Given the description of an element on the screen output the (x, y) to click on. 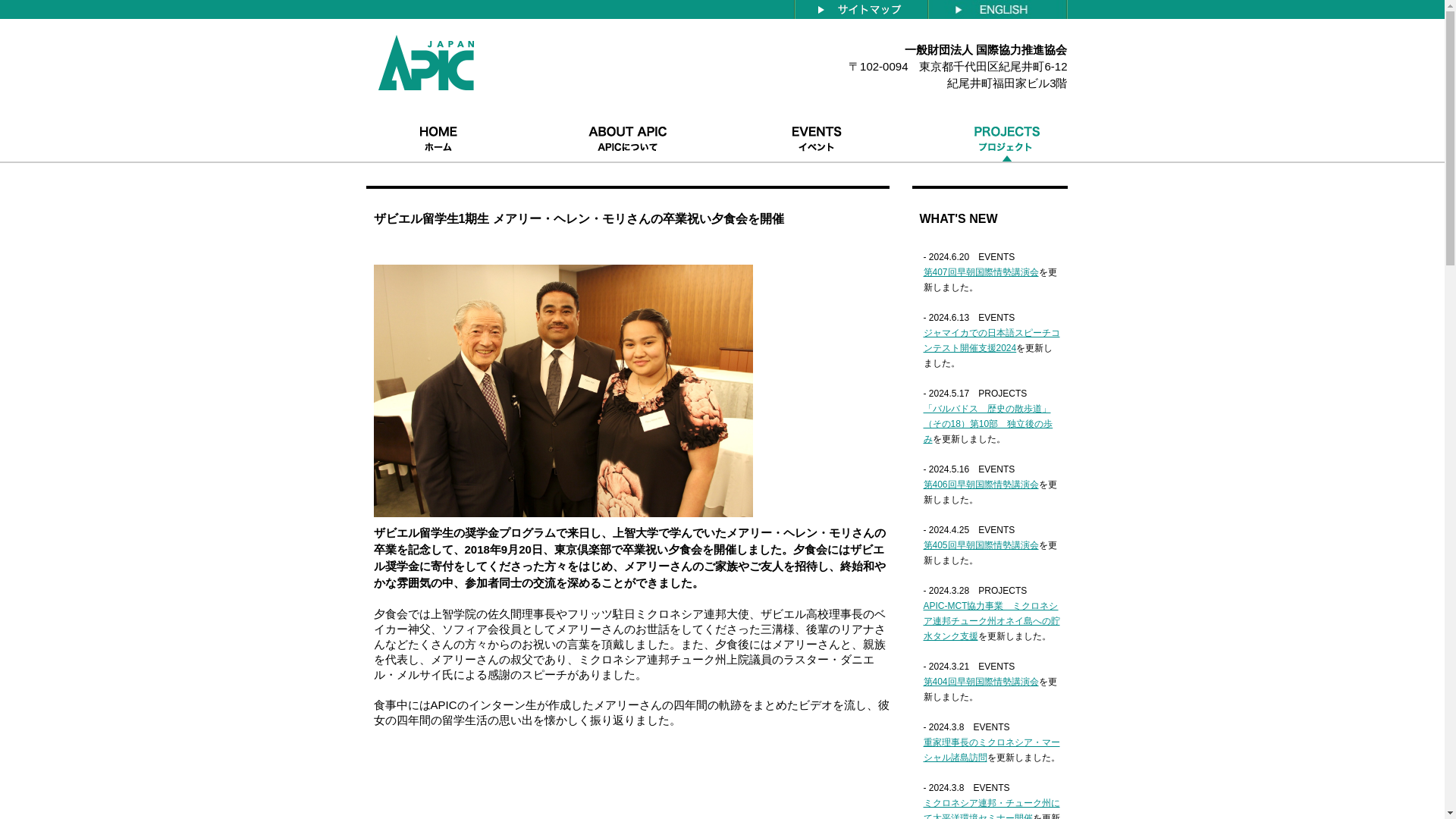
ENGLISH (1000, 6)
